Given the description of an element on the screen output the (x, y) to click on. 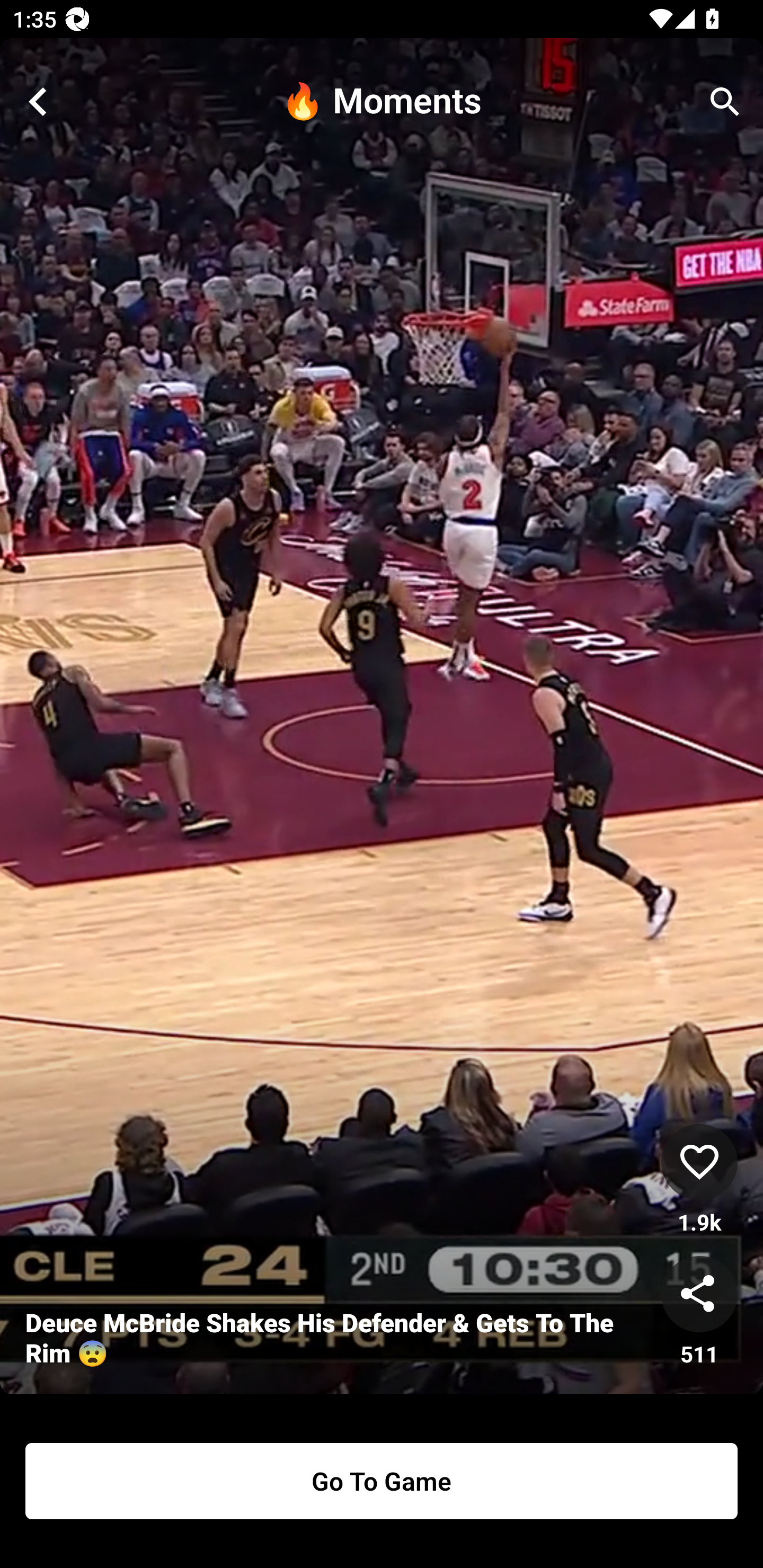
close (38, 101)
search (724, 101)
like 1.9k 1912 Likes (699, 1180)
share 511 511 Shares (699, 1311)
Go To Game (381, 1480)
